Given the description of an element on the screen output the (x, y) to click on. 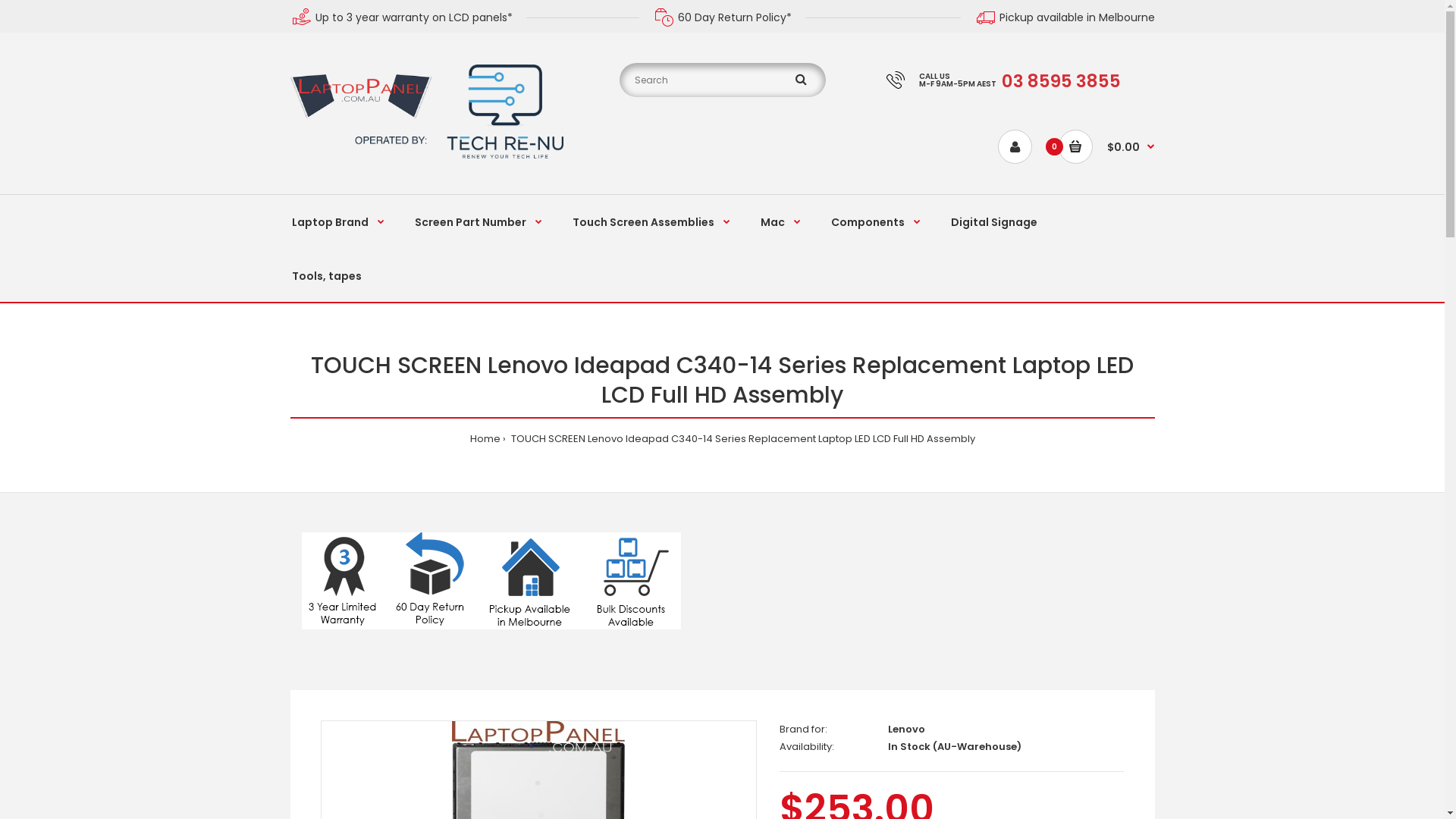
LaptopPanel.com.au Element type: hover (425, 111)
Lenovo Element type: text (906, 728)
Screen Part Number Element type: text (477, 220)
Components Element type: text (875, 220)
0
$0.00 Element type: text (1106, 146)
Tools, tapes Element type: text (325, 274)
Digital Signage Element type: text (993, 220)
Touch Screen Assemblies Element type: text (650, 220)
Home Element type: text (485, 438)
Mac Element type: text (779, 220)
Laptop Brand Element type: text (337, 220)
